Given the description of an element on the screen output the (x, y) to click on. 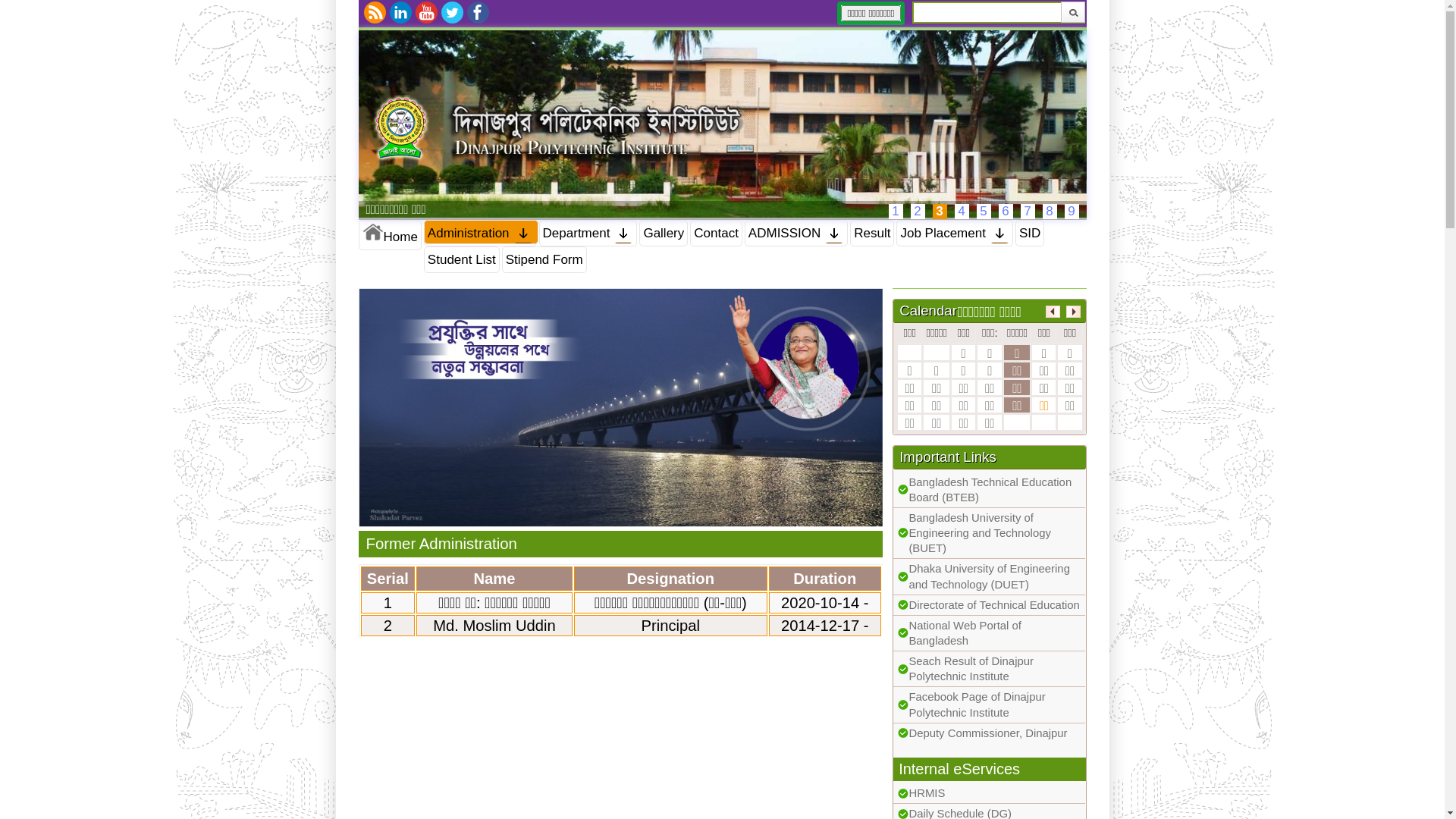
Facebook Page of Dinajpur Polytechnic Institute Element type: text (976, 704)
9 Element type: text (1071, 211)
Stipend Form Element type: text (544, 259)
SID Element type: text (1029, 232)
Administration Element type: text (480, 232)
Seach Result of Dinajpur Polytechnic Institute Element type: text (970, 668)
Directorate of Technical Education Element type: text (993, 605)
Deputy Commissioner, Dinajpur Element type: text (987, 733)
1 Element type: text (895, 211)
5 Element type: text (983, 211)
HRMIS Element type: text (926, 793)
3 Element type: text (939, 211)
8 Element type: text (1048, 211)
Home Element type: text (389, 234)
National Web Portal of Bangladesh Element type: text (964, 632)
Bangladesh Technical Education Board (BTEB) Element type: text (989, 489)
7 Element type: text (1027, 211)
Submit Element type: text (1072, 11)
Result Element type: text (871, 232)
Student List Element type: text (461, 259)
Contact Element type: text (715, 232)
Department Element type: text (588, 232)
4 Element type: text (960, 211)
2 Element type: text (917, 211)
ADMISSION Element type: text (796, 232)
Bangladesh University of Engineering and Technology (BUET) Element type: text (979, 532)
Gallery Element type: text (663, 232)
Dhaka University of Engineering and Technology (DUET) Element type: text (989, 575)
Job Placement Element type: text (954, 232)
6 Element type: text (1004, 211)
